Given the description of an element on the screen output the (x, y) to click on. 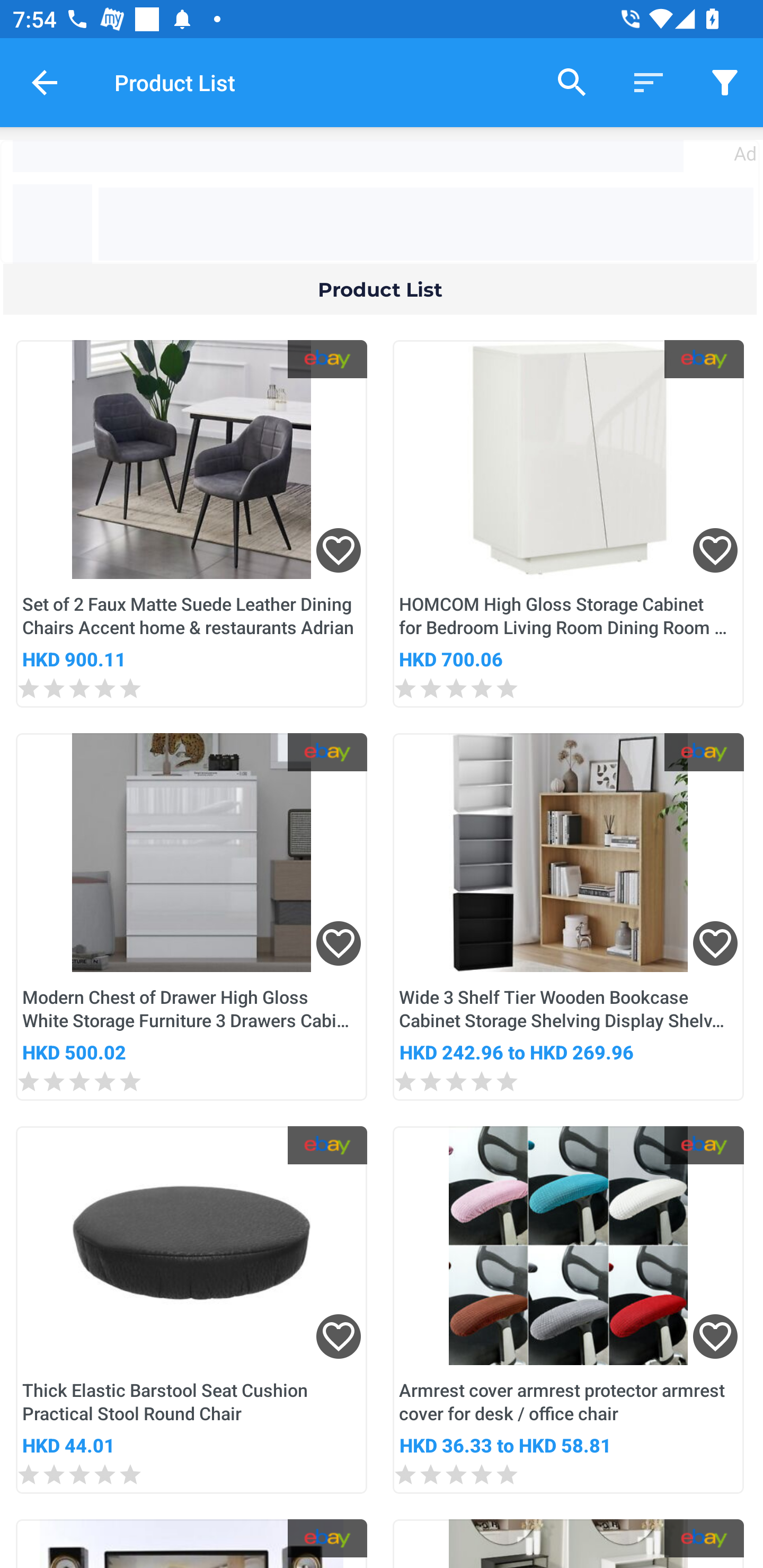
Navigate up (44, 82)
Search (572, 81)
short (648, 81)
short (724, 81)
